Given the description of an element on the screen output the (x, y) to click on. 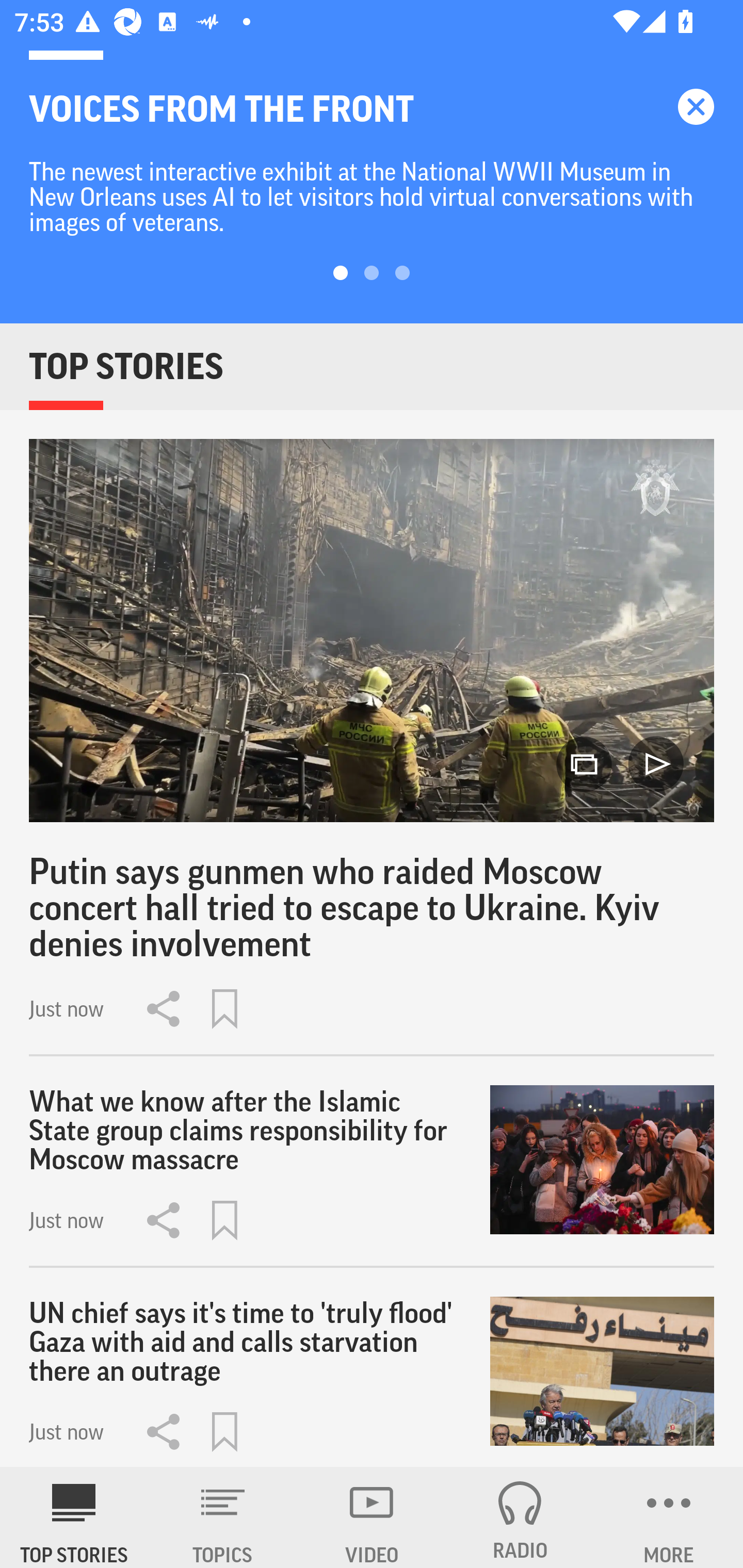
AP News TOP STORIES (74, 1517)
TOPICS (222, 1517)
VIDEO (371, 1517)
RADIO (519, 1517)
MORE (668, 1517)
